Given the description of an element on the screen output the (x, y) to click on. 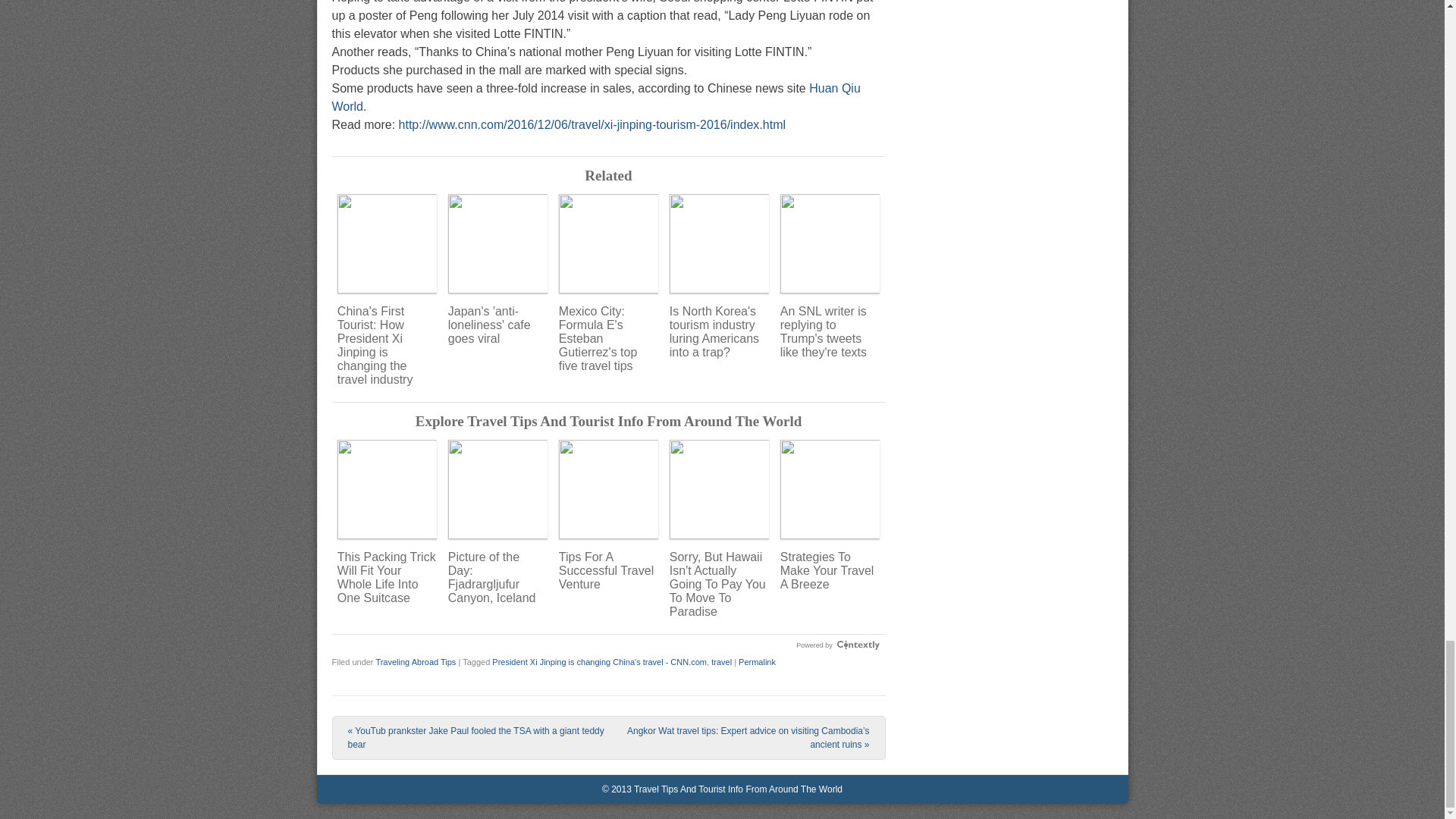
Japan's 'anti-loneliness' cafe goes viral (497, 269)
Huan Qiu World (595, 97)
